Given the description of an element on the screen output the (x, y) to click on. 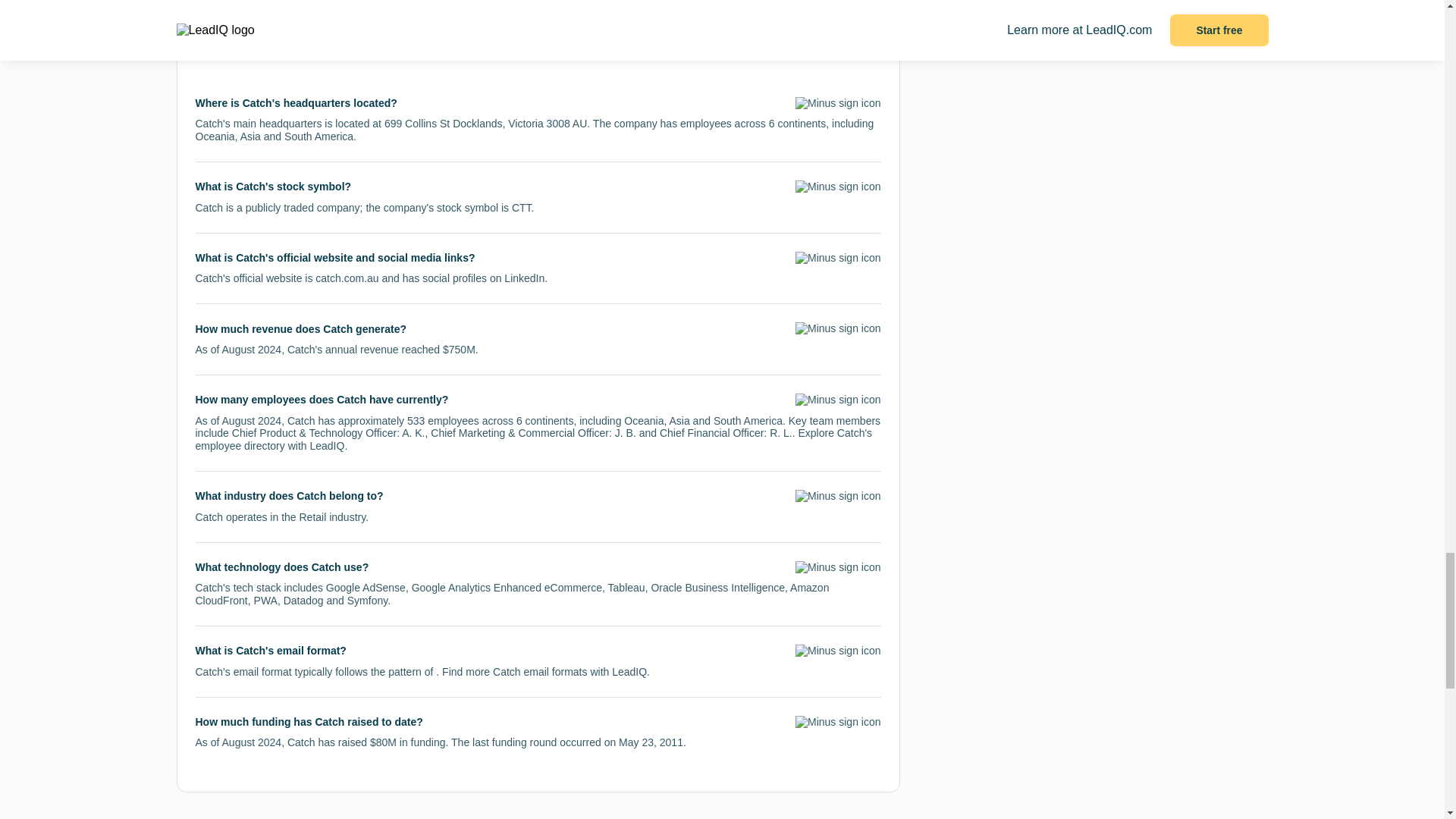
Find more Catch email formats (514, 671)
catch.com.au (346, 277)
Catch's employee directory (533, 439)
LinkedIn (523, 277)
